Given the description of an element on the screen output the (x, y) to click on. 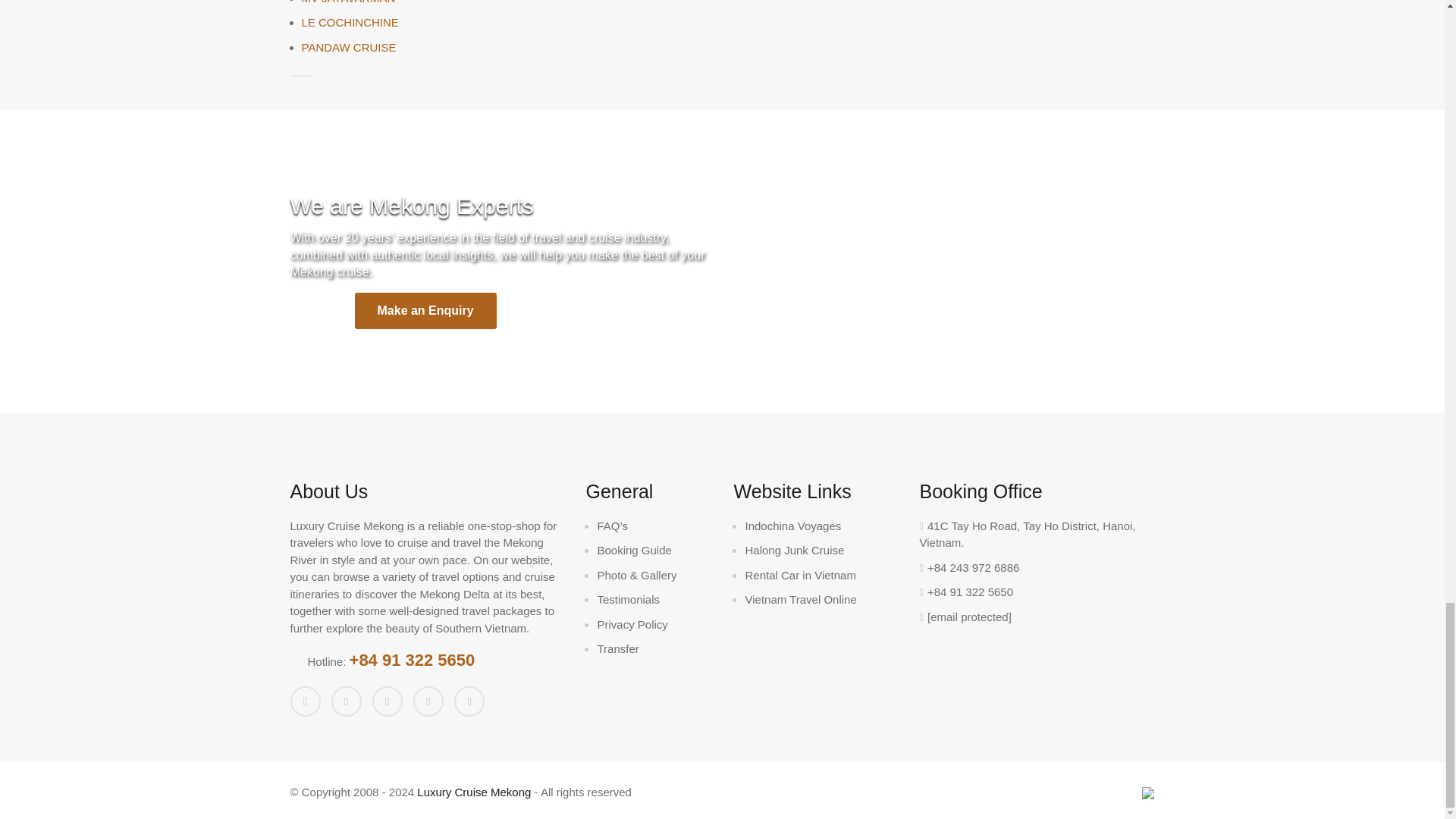
PANDAW CRUISE (348, 47)
pinterest-p (469, 701)
MV JAYAVARMAN (348, 2)
Testimonials (627, 599)
twitter (346, 701)
facebook (304, 701)
MV JAYAVARMAN (348, 2)
Booking Guide (633, 549)
LE COCHINCHINE (349, 21)
Youtube (428, 701)
